Given the description of an element on the screen output the (x, y) to click on. 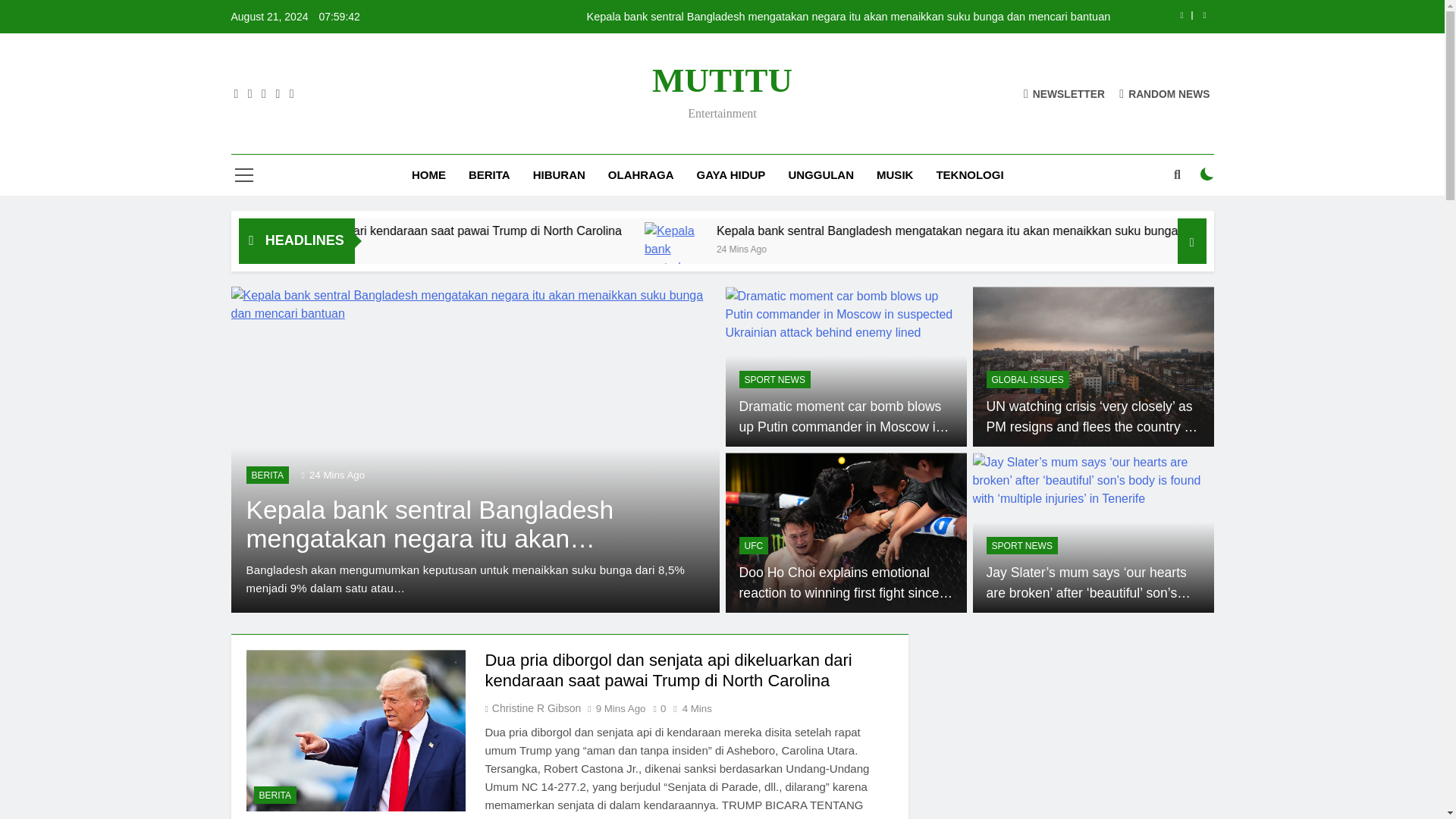
OLAHRAGA (640, 174)
MUTITU (722, 80)
HOME (428, 174)
GAYA HIDUP (731, 174)
BERITA (489, 174)
HIBURAN (558, 174)
24 Mins Ago (930, 247)
